Given the description of an element on the screen output the (x, y) to click on. 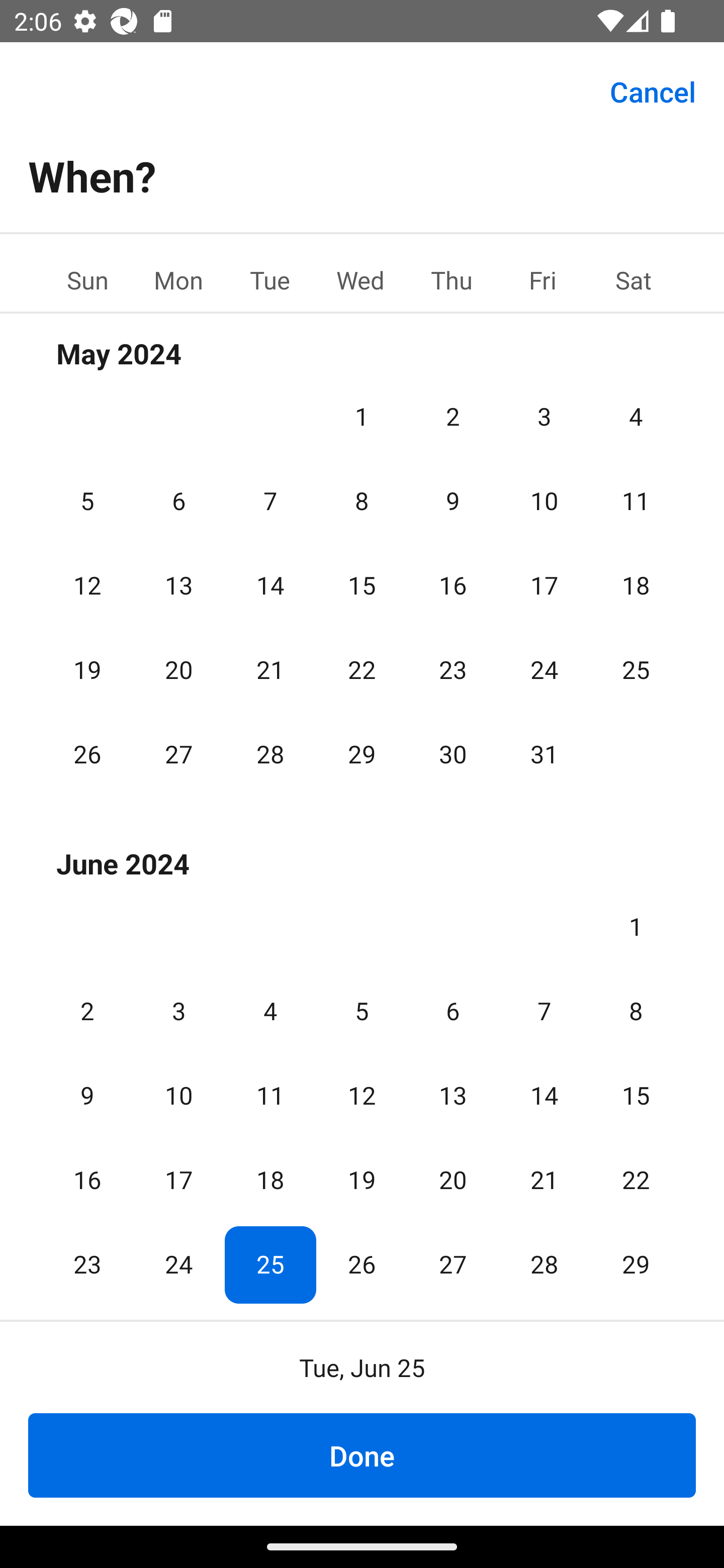
Cancel (652, 90)
Done (361, 1454)
